Given the description of an element on the screen output the (x, y) to click on. 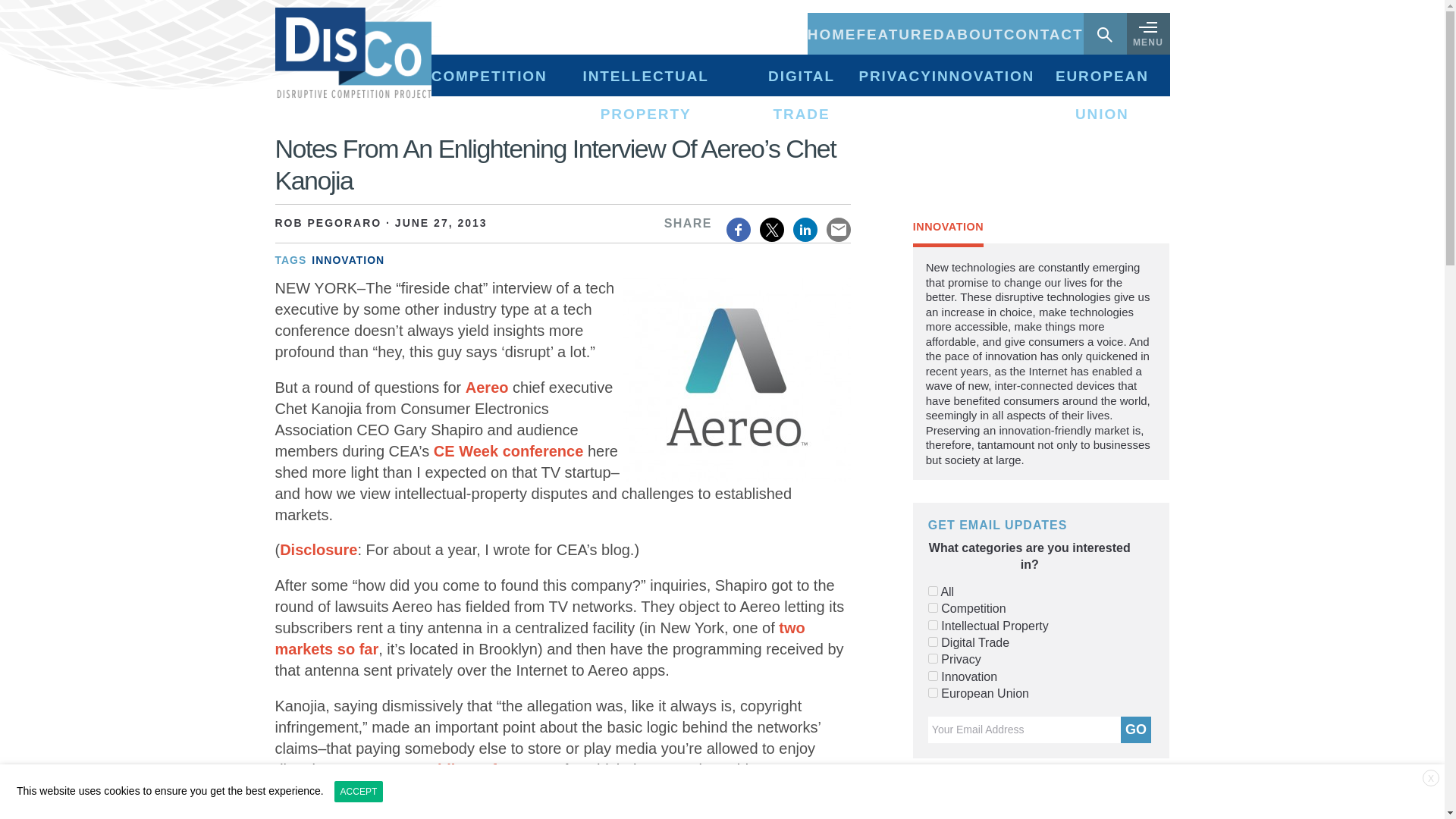
Aereo (486, 387)
f49011036e (932, 591)
dfdd5f7007 (932, 642)
6a33747426 (932, 675)
Posts by Rob Pegoraro (328, 223)
ABOUT DISCO (974, 33)
FEATURED (900, 33)
0fe90f44a7 (932, 658)
a022abdb49 (932, 692)
HOME (832, 33)
25378e9cac (932, 607)
EUROPEAN UNION (1101, 75)
Go (1136, 729)
DIGITAL TRADE (801, 75)
Close and Accept (1430, 777)
